Given the description of an element on the screen output the (x, y) to click on. 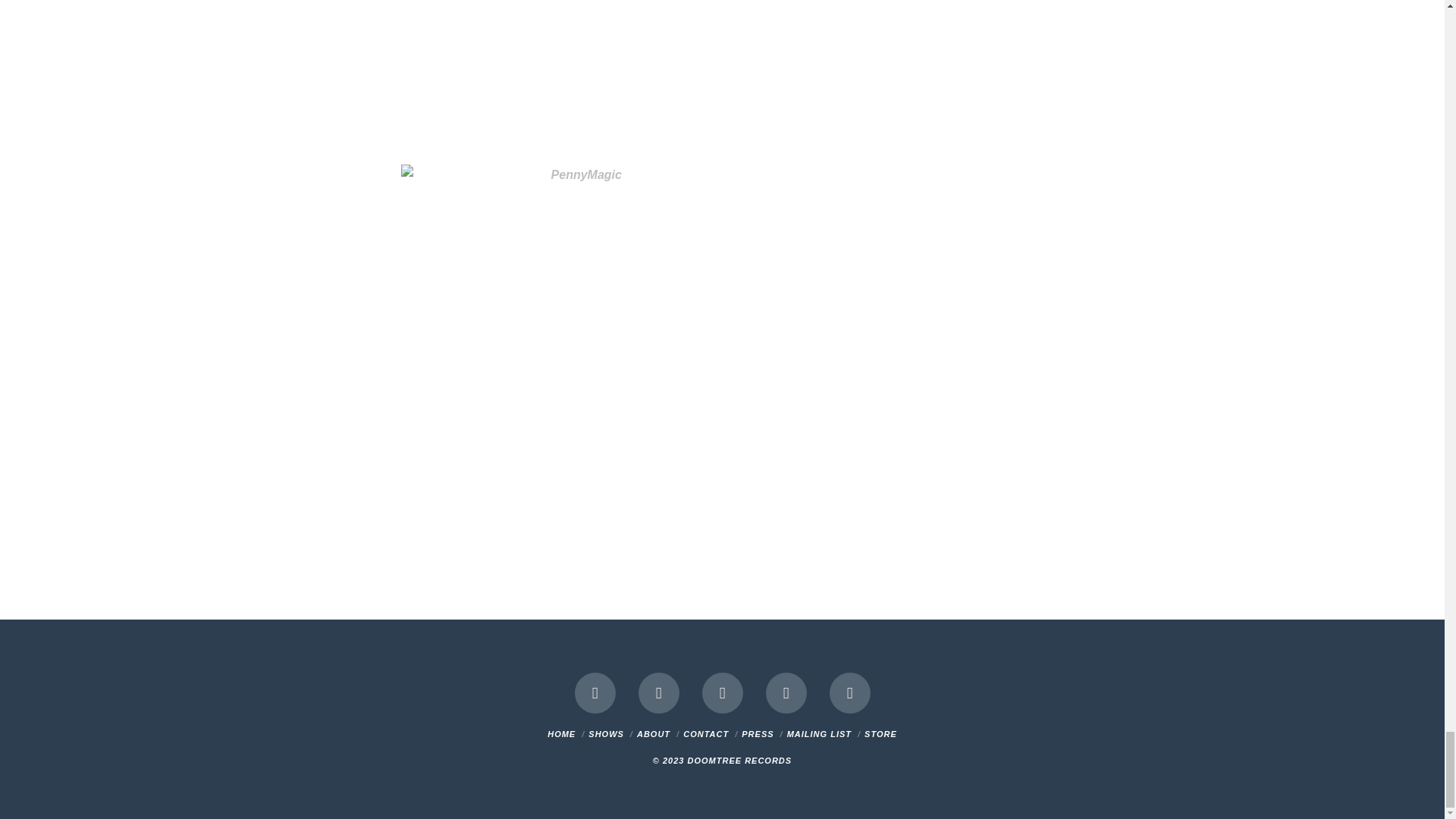
YouTube (721, 692)
Twitter (659, 692)
Instagram (785, 692)
Facebook (595, 692)
SoundCloud (849, 692)
